Given the description of an element on the screen output the (x, y) to click on. 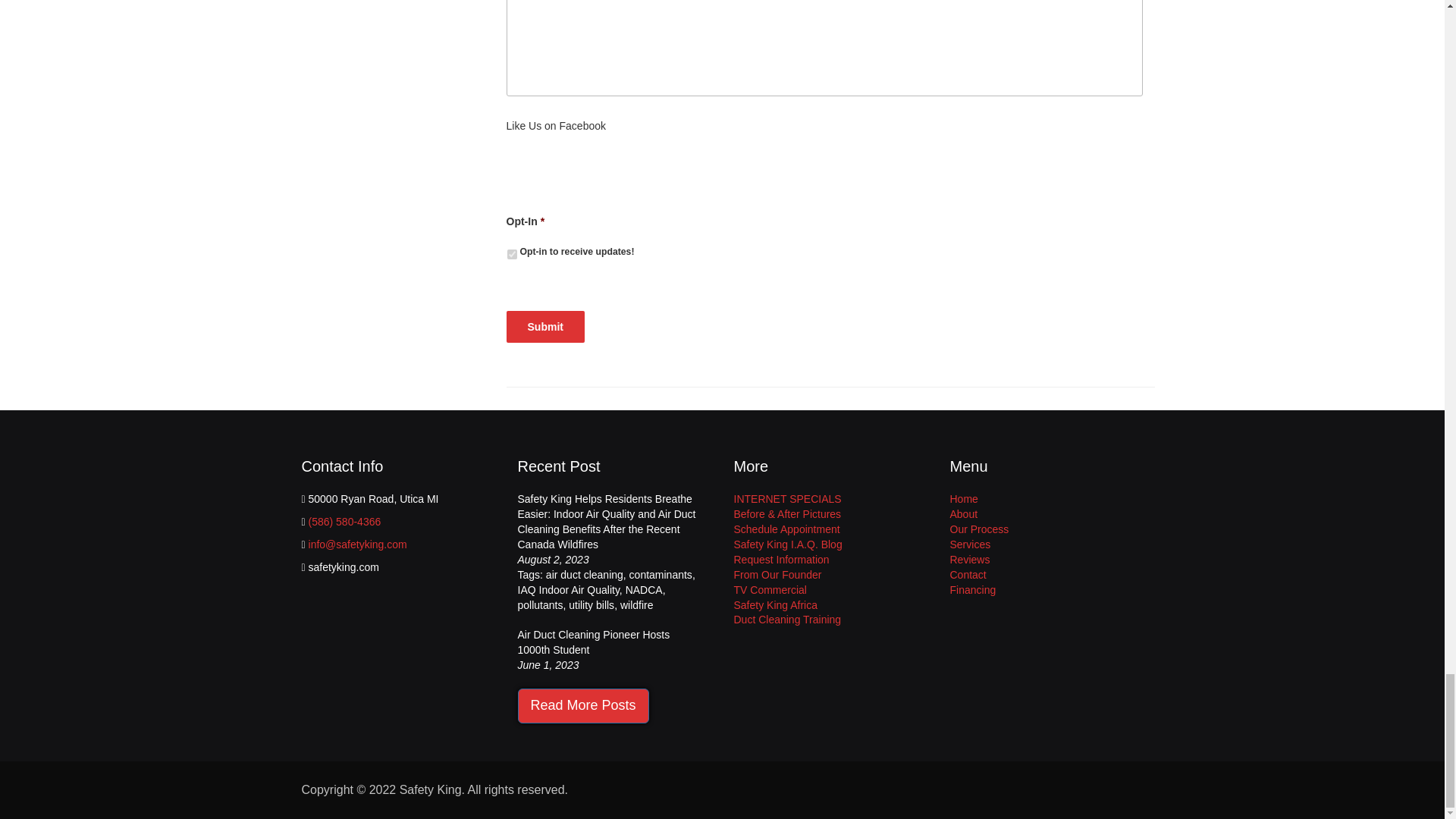
Opt-in to receive updates! (511, 254)
